Given the description of an element on the screen output the (x, y) to click on. 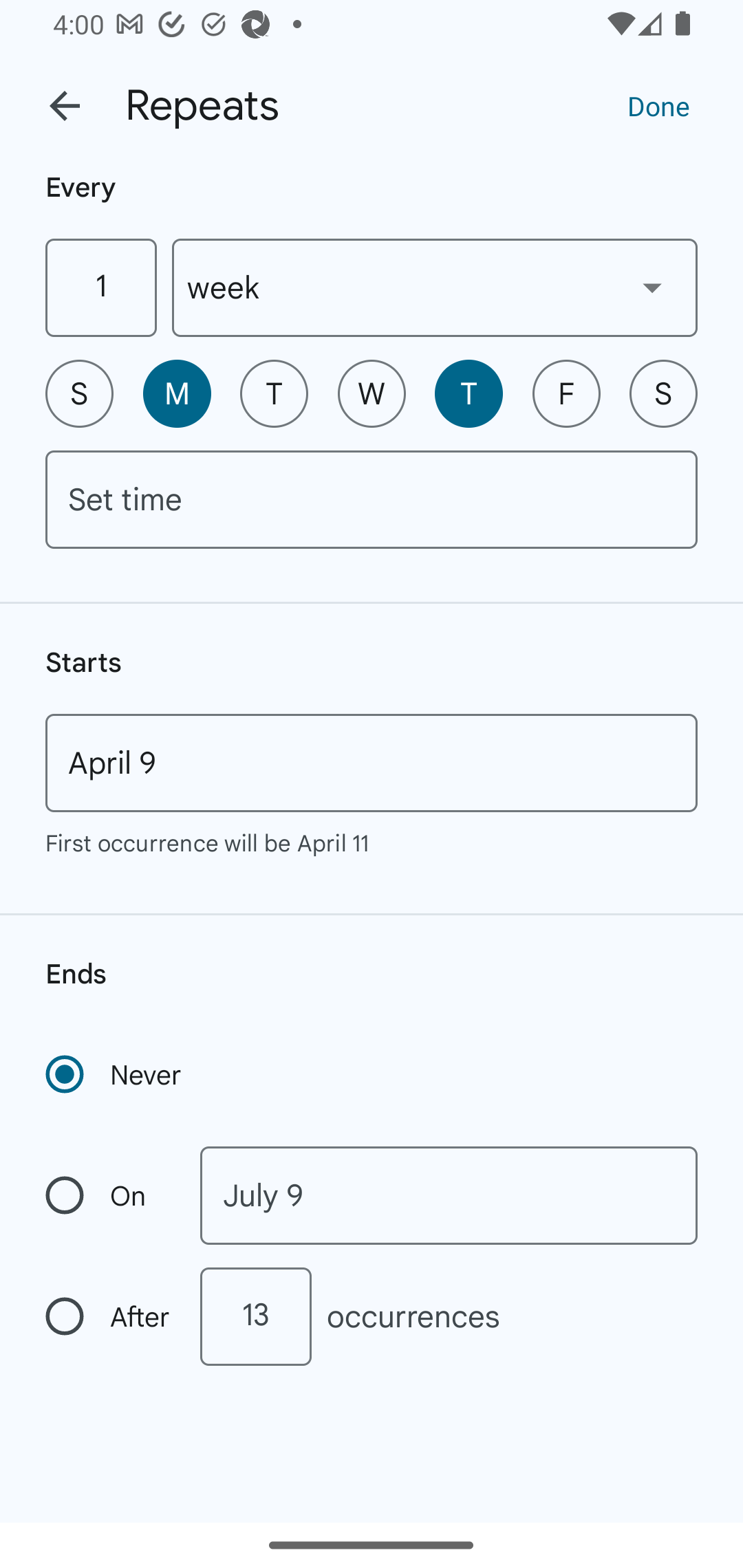
Back (64, 105)
Done (658, 105)
1 (100, 287)
week (434, 287)
Show dropdown menu (652, 286)
S Sunday (79, 393)
M Monday, selected (177, 393)
T Tuesday (273, 393)
W Wednesday (371, 393)
T Thursday, selected (468, 393)
F Friday (566, 393)
S Saturday (663, 393)
Set time (371, 499)
April 9 (371, 762)
Never Recurrence never ends (115, 1074)
July 9 (448, 1195)
On Recurrence ends on a specific date (109, 1195)
13 (255, 1315)
